Given the description of an element on the screen output the (x, y) to click on. 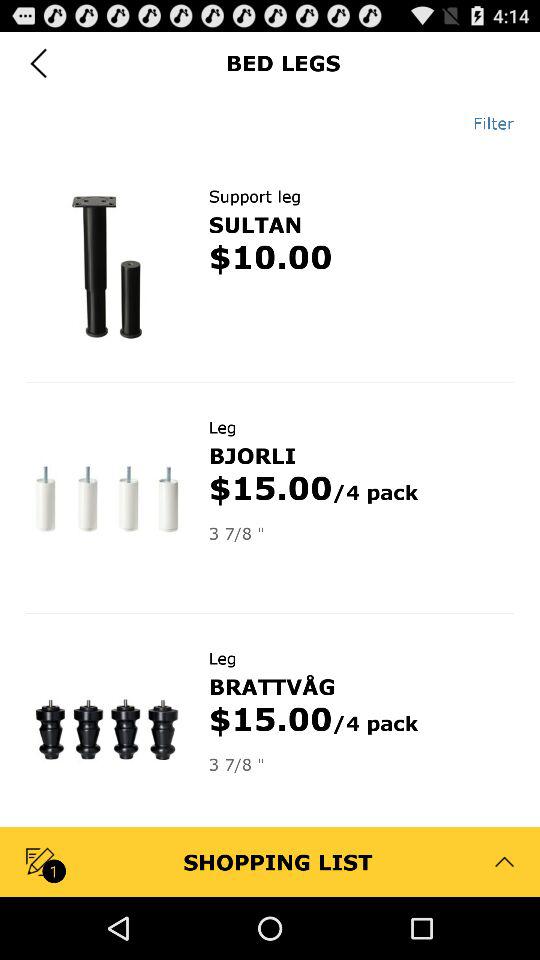
choose icon below the leg app (271, 686)
